Given the description of an element on the screen output the (x, y) to click on. 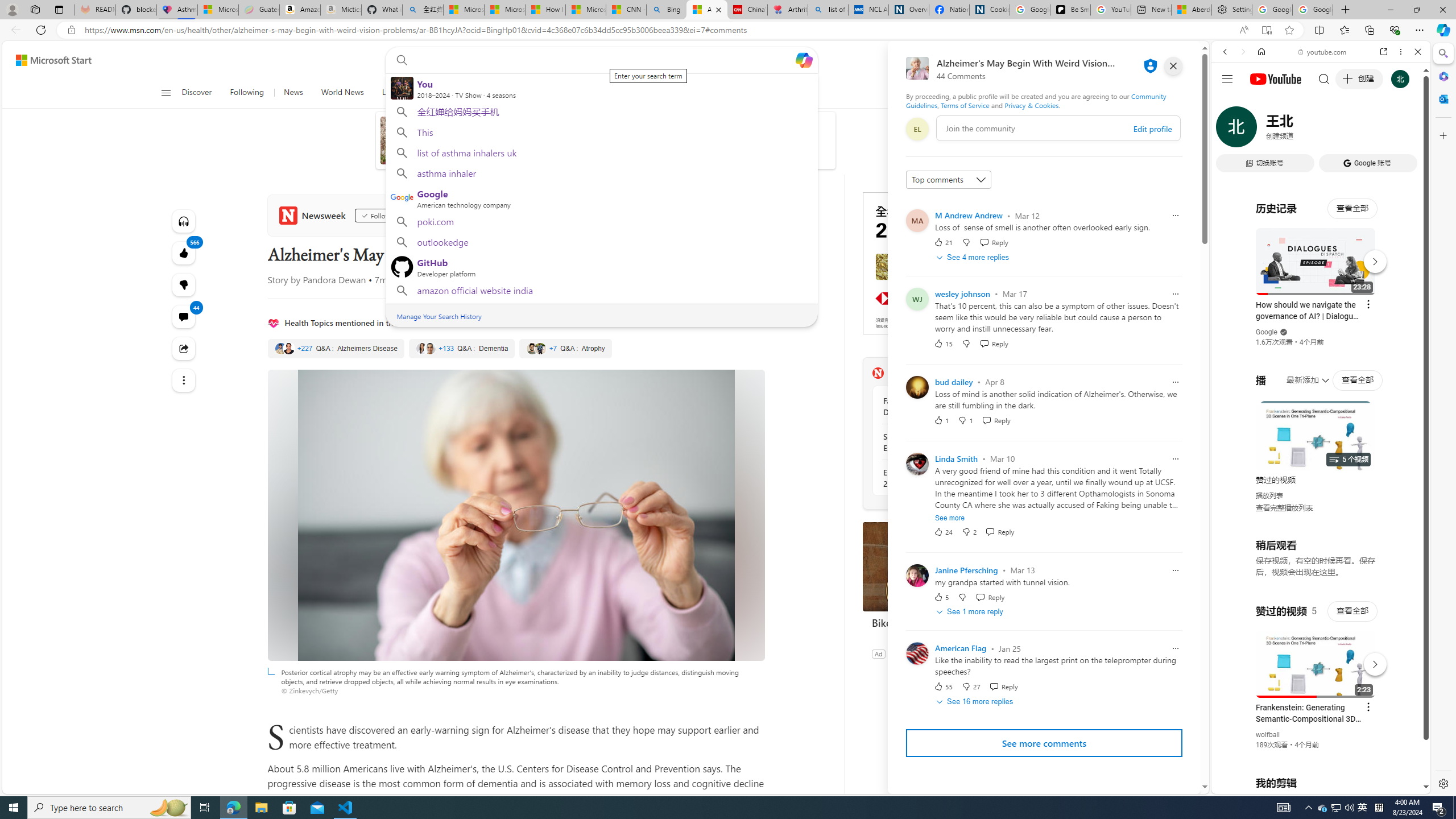
LendingTree (533, 159)
Privacy & Cookies (1031, 104)
Search the web (1326, 78)
list of asthma inhalers uk - Search (828, 9)
Edit profile (1152, 128)
See 16 more replies (976, 702)
Show More Music (1390, 310)
